Given the description of an element on the screen output the (x, y) to click on. 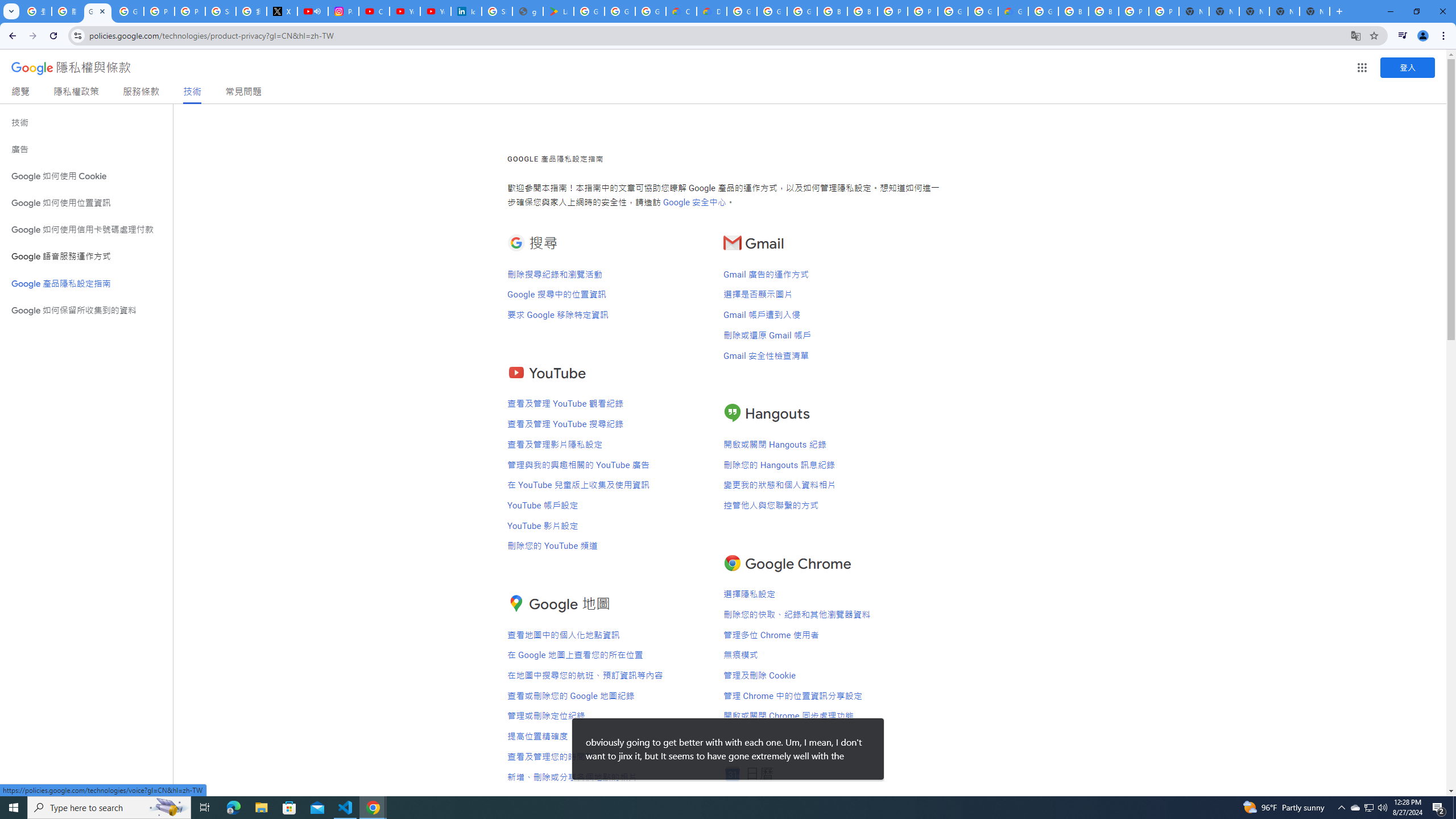
Last Shelter: Survival - Apps on Google Play (558, 11)
